Given the description of an element on the screen output the (x, y) to click on. 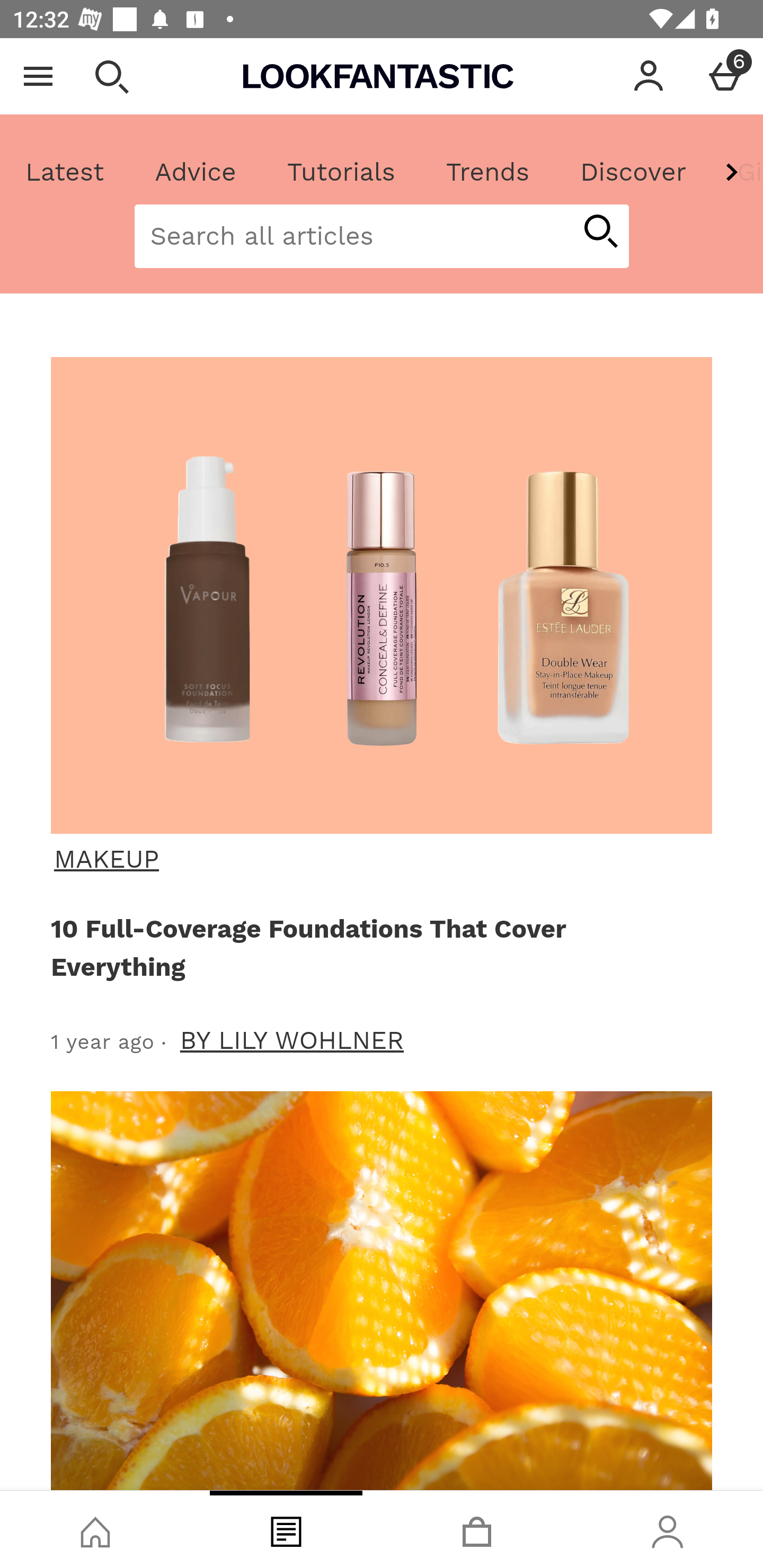
Open Menu (38, 75)
Open search (111, 75)
Account (648, 75)
Basket Menu (724, 75)
Latest (65, 172)
Advice (195, 172)
Tutorials (340, 172)
Trends (486, 172)
Discover (632, 172)
Gift Guide (736, 172)
start article search (599, 232)
MAKEUP (379, 858)
10 Full-Coverage Foundations That Cover Everything (377, 947)
BY LILY WOHLNER (292, 1040)
Shop, tab, 1 of 4 (95, 1529)
Blog, tab, 2 of 4 (285, 1529)
Basket, tab, 3 of 4 (476, 1529)
Account, tab, 4 of 4 (667, 1529)
